Given the description of an element on the screen output the (x, y) to click on. 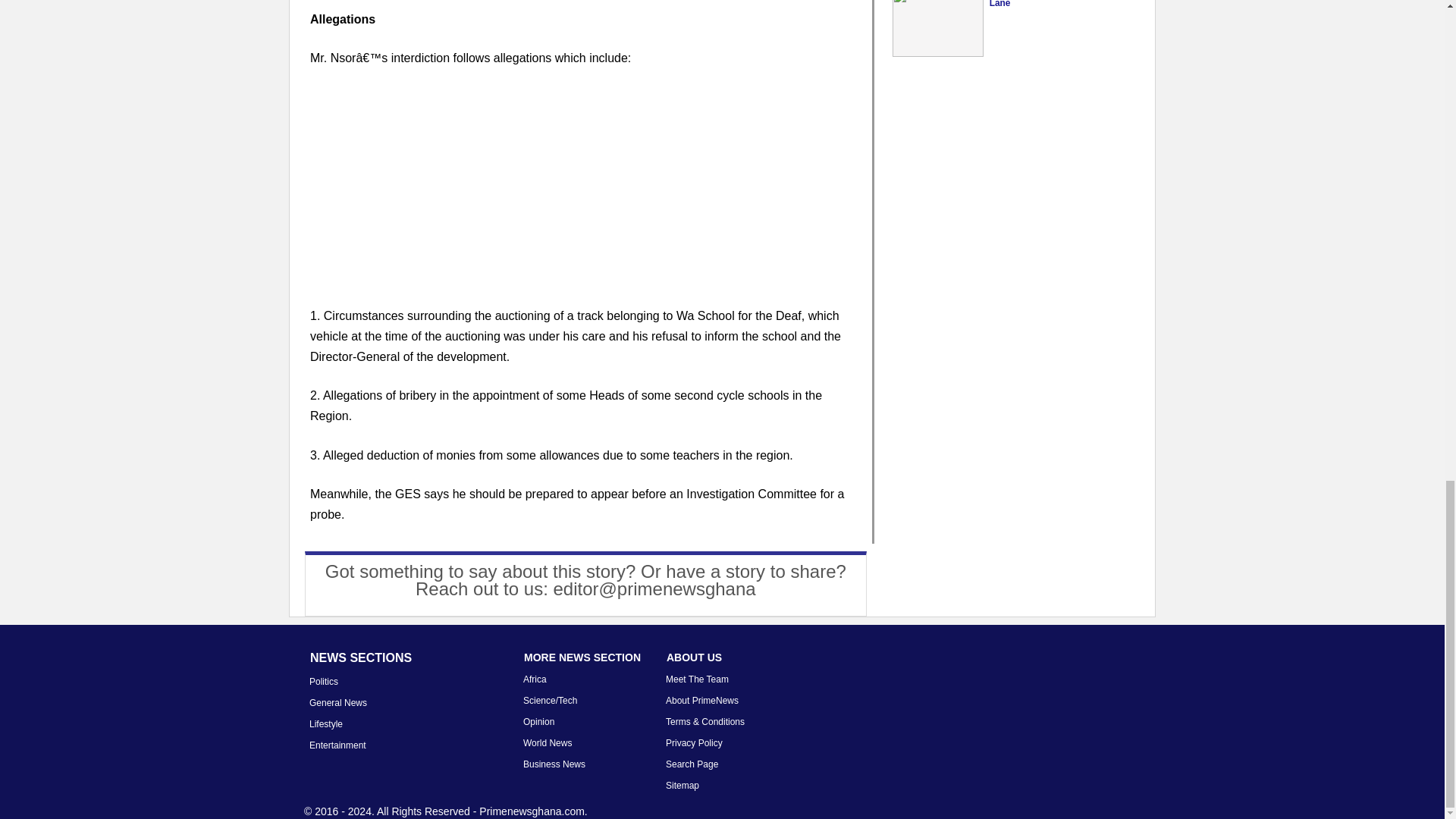
Politics (322, 681)
Fire destroys shops at Zongo Lane (1053, 4)
General News (337, 702)
